Given the description of an element on the screen output the (x, y) to click on. 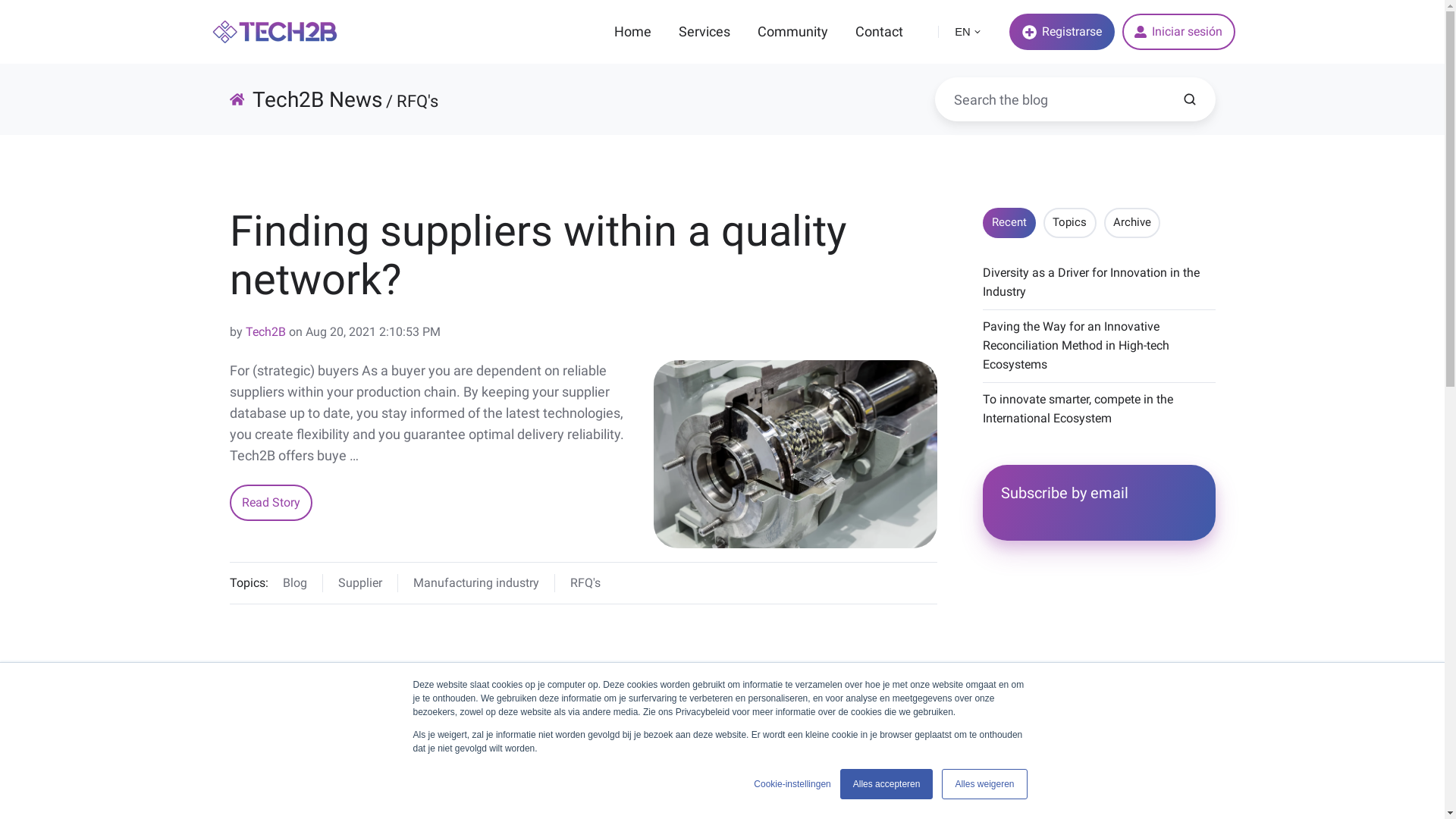
Home Element type: text (632, 31)
tech2b-logo-colored-320x60-3 Element type: hover (273, 31)
Diversity as a Driver for Innovation in the Industry Element type: text (1090, 281)
Alles weigeren Element type: text (983, 783)
Archive Element type: text (1132, 222)
Blog Element type: text (302, 583)
EN Element type: text (967, 31)
RFQ's Element type: text (585, 583)
Cookie-instellingen Element type: text (791, 783)
More business opportunities Element type: text (498, 682)
Community Element type: text (792, 31)
To innovate smarter, compete in the International Ecosystem Element type: text (1077, 408)
Sjors Hooijen Element type: text (280, 734)
Alles accepteren Element type: text (886, 783)
Search the blog Element type: text (1189, 98)
Finding suppliers within a quality network? Element type: text (537, 255)
Read Story Element type: text (270, 502)
Registrarse Element type: text (1061, 31)
Supplier Element type: text (368, 583)
Services Element type: text (704, 31)
Tech2B Element type: text (265, 331)
Manufacturing industry Element type: text (484, 583)
Contact Element type: text (879, 31)
Topics Element type: text (1069, 222)
Recent Element type: text (1008, 222)
